Given the description of an element on the screen output the (x, y) to click on. 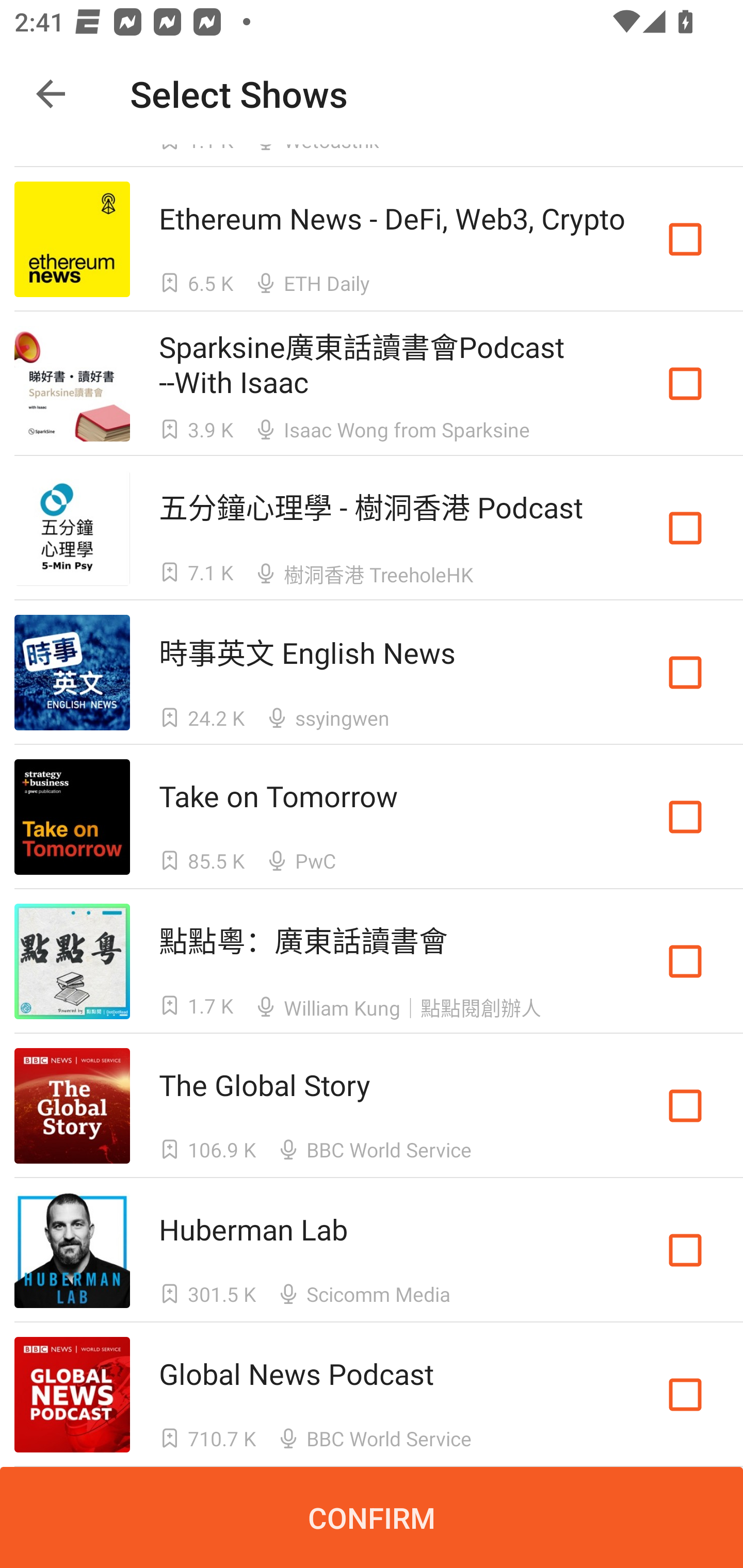
Navigate up (50, 93)
Take on Tomorrow Take on Tomorrow  85.5 K  PwC (371, 816)
CONFIRM (371, 1517)
